Given the description of an element on the screen output the (x, y) to click on. 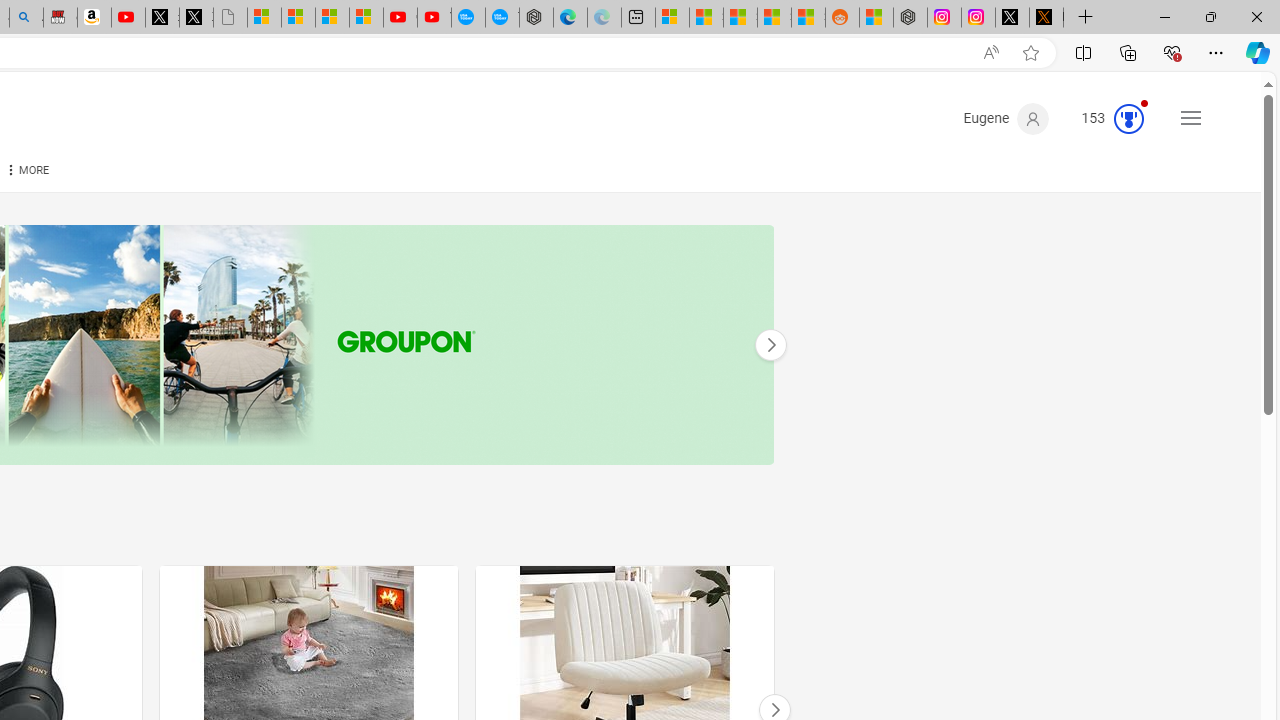
Restore (1210, 16)
help.x.com | 524: A timeout occurred (1046, 17)
Minimize (1164, 16)
Log in to X / X (1012, 17)
Shanghai, China hourly forecast | Microsoft Weather (740, 17)
Read aloud this page (Ctrl+Shift+U) (991, 53)
Browser essentials (1171, 52)
Shanghai, China weather forecast | Microsoft Weather (706, 17)
Nordace - Summer Adventures 2024 (909, 17)
Split screen (1083, 52)
Microsoft account | Microsoft Account Privacy Settings (671, 17)
Day 1: Arriving in Yemen (surreal to be here) - YouTube (127, 17)
